Given the description of an element on the screen output the (x, y) to click on. 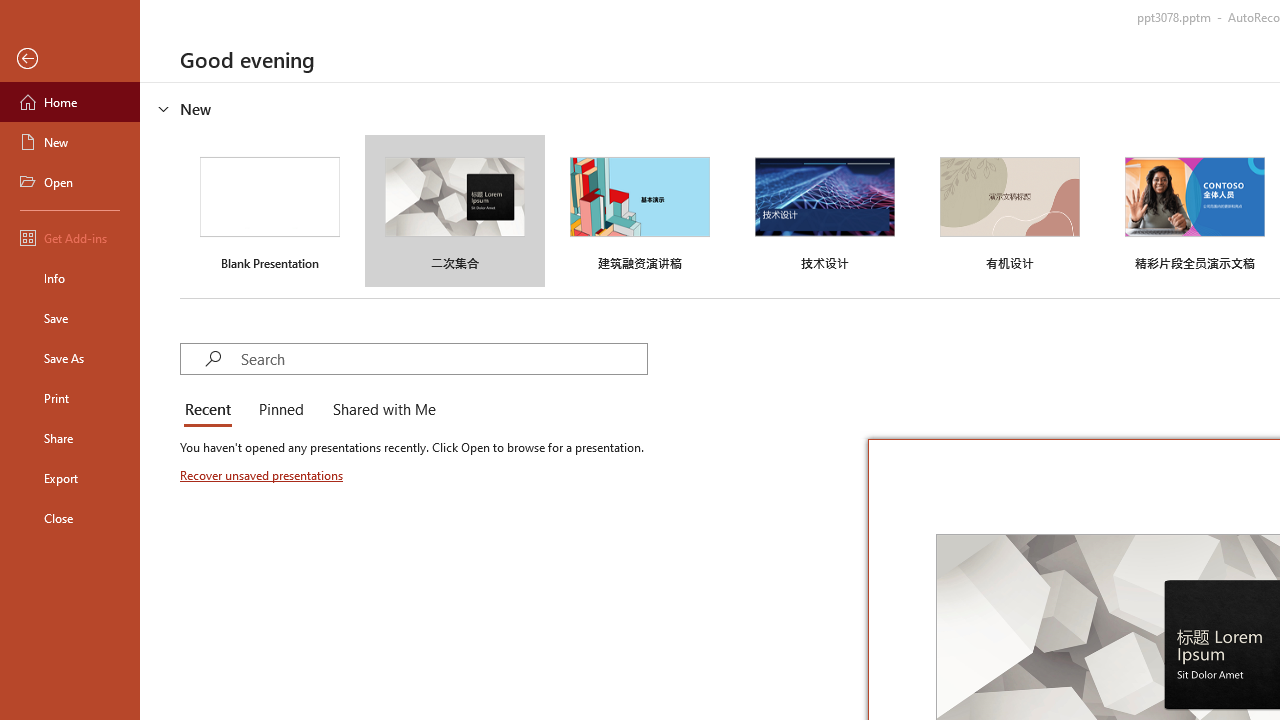
Shared with Me (379, 410)
Pinned (280, 410)
Info (69, 277)
Recent (212, 410)
Print (69, 398)
Hide or show region (164, 108)
Export (69, 477)
